Given the description of an element on the screen output the (x, y) to click on. 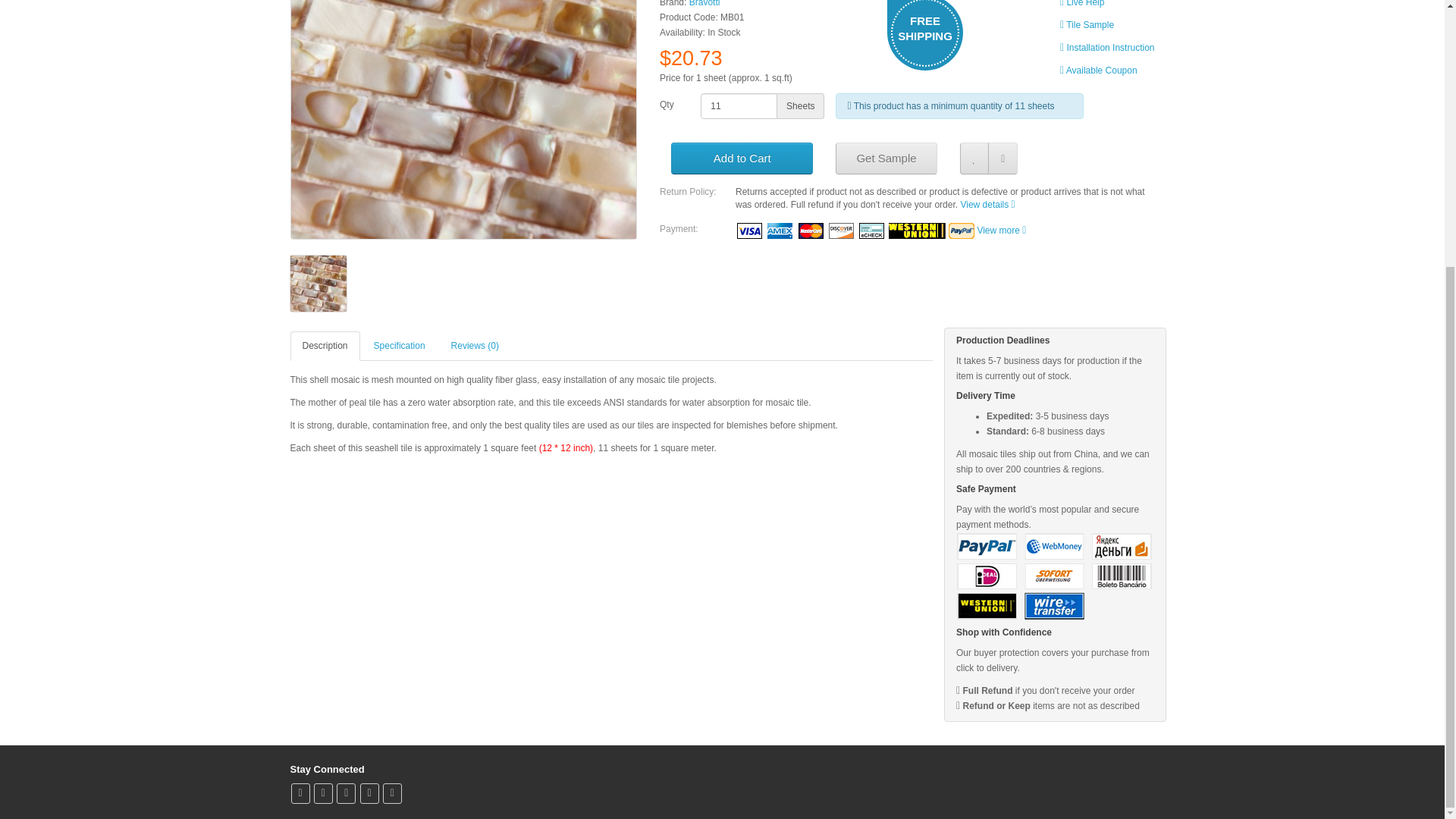
Compare this Product (1002, 158)
Add to Wish List (974, 158)
11 (738, 105)
